Given the description of an element on the screen output the (x, y) to click on. 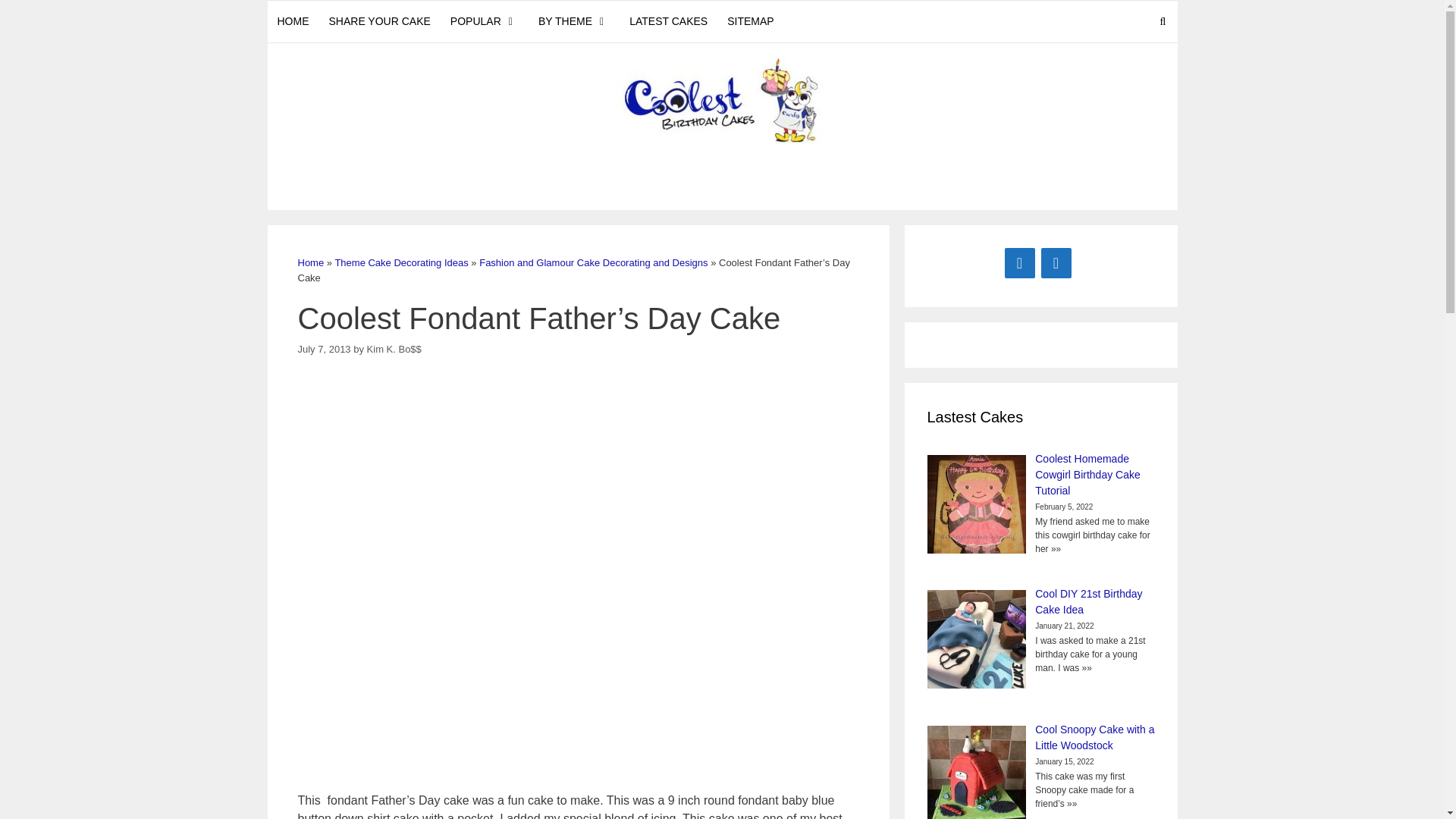
SHARE YOUR CAKE (378, 21)
POPULAR (484, 21)
Home (310, 262)
SITEMAP (750, 21)
Instagram (1055, 263)
Fashion and Glamour Cake Decorating and Designs (593, 262)
LATEST CAKES (668, 21)
HOME (292, 21)
Facebook (1018, 263)
Theme Cake Decorating Ideas (400, 262)
